Given the description of an element on the screen output the (x, y) to click on. 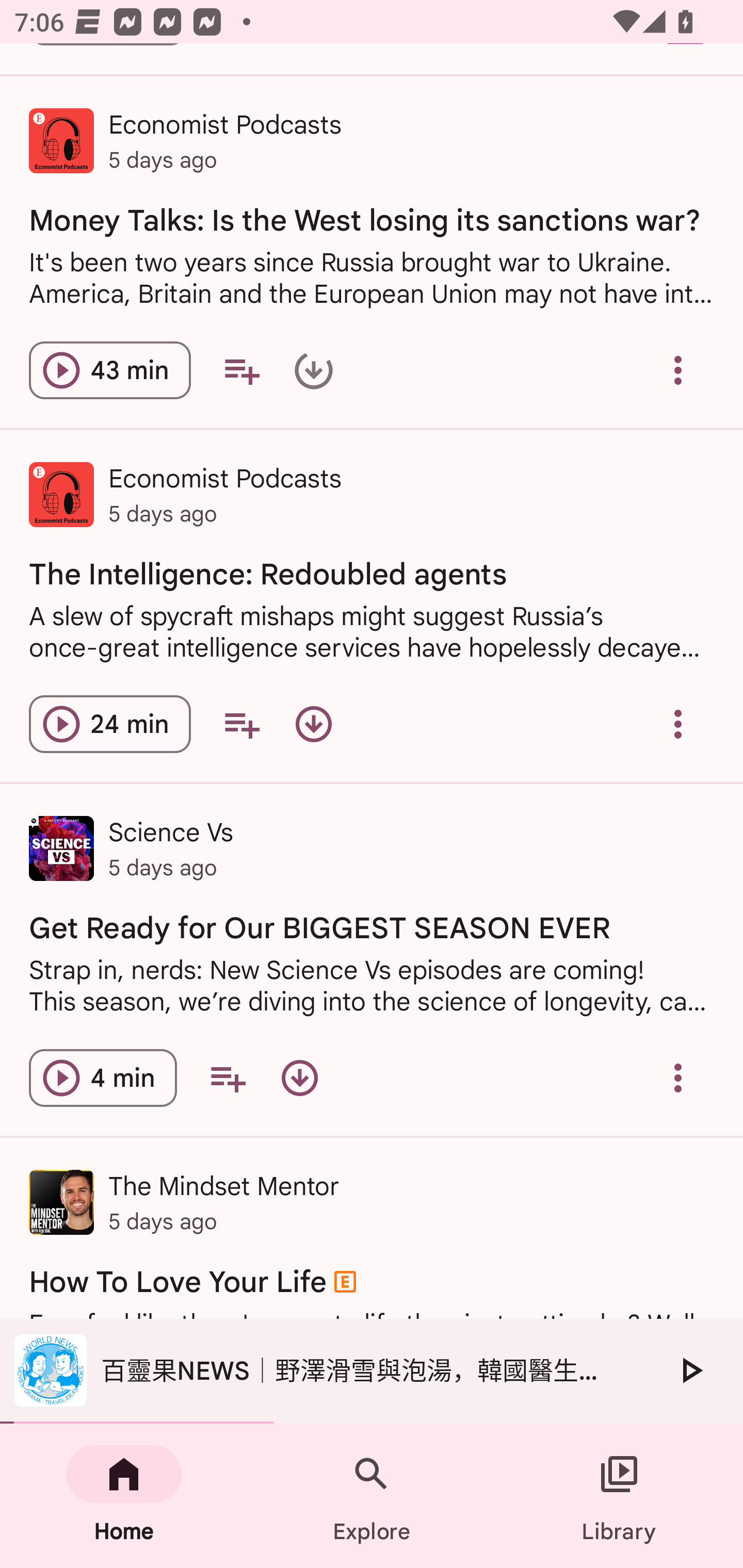
Add to your queue (241, 370)
Queued to download - double tap for options (313, 370)
Overflow menu (677, 370)
Add to your queue (241, 723)
Download episode (313, 723)
Overflow menu (677, 723)
Add to your queue (227, 1077)
Download episode (299, 1077)
Overflow menu (677, 1077)
Play (690, 1370)
Explore (371, 1495)
Library (619, 1495)
